Given the description of an element on the screen output the (x, y) to click on. 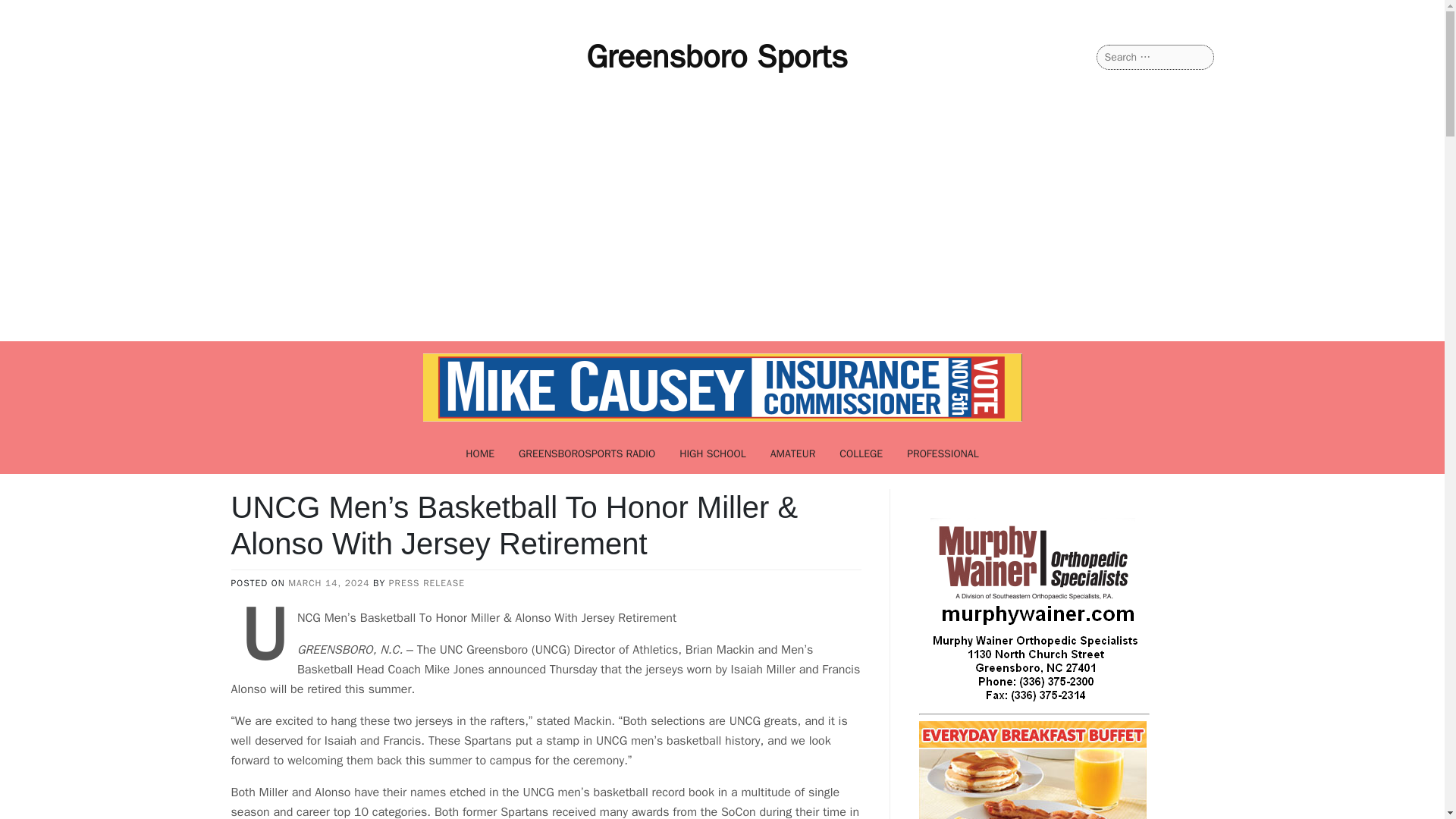
Search (30, 12)
MARCH 14, 2024 (328, 582)
Greensboro Sports (716, 56)
Search (31, 12)
COLLEGE (861, 454)
PROFESSIONAL (943, 454)
GREENSBOROSPORTS RADIO (586, 454)
AMATEUR (793, 454)
HIGH SCHOOL (712, 454)
